Given the description of an element on the screen output the (x, y) to click on. 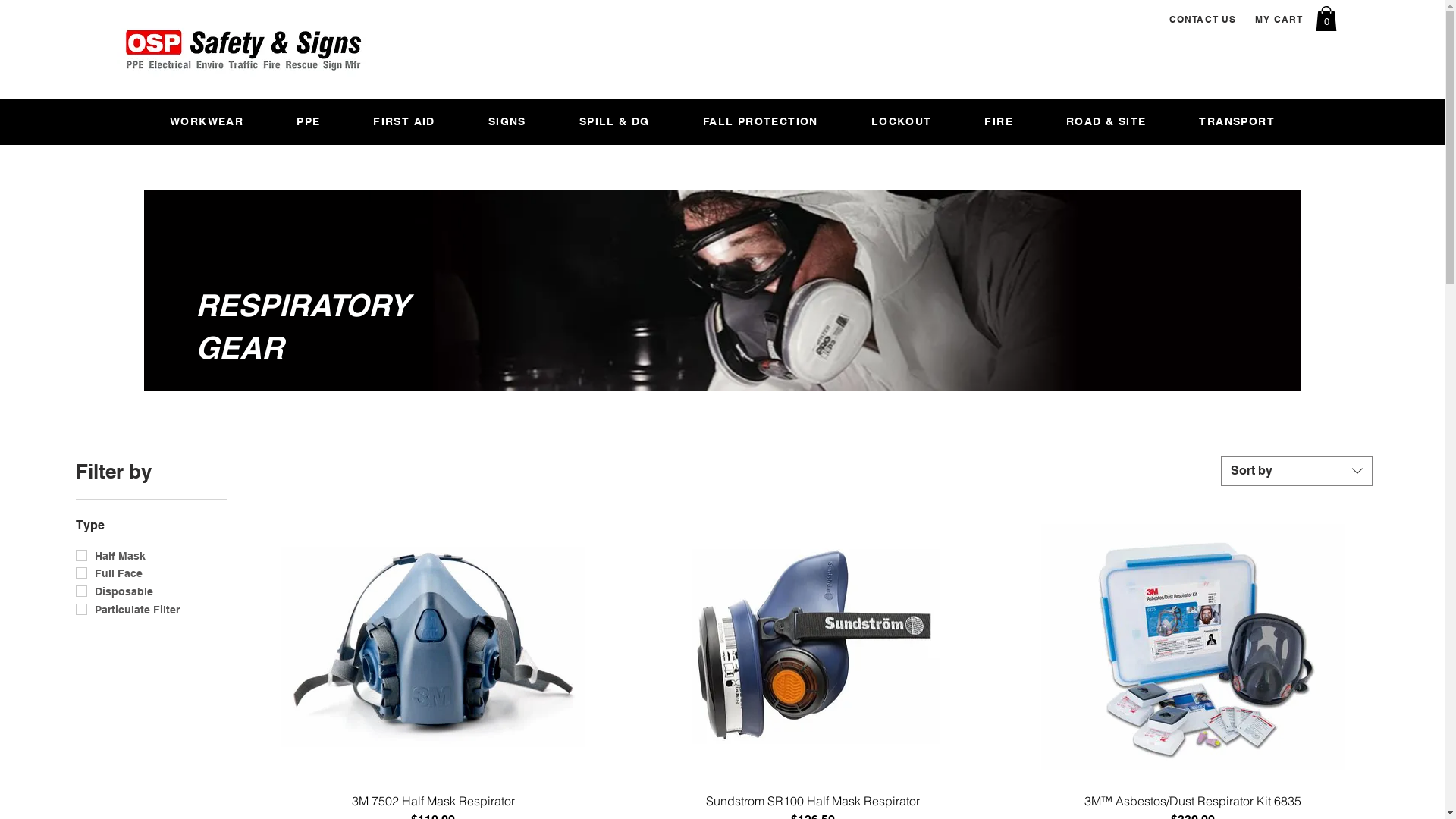
TRANSPORT Element type: text (1236, 120)
SIGNS Element type: text (507, 120)
PPE Element type: text (307, 120)
Sort by Element type: text (1296, 470)
SPILL & DG Element type: text (614, 120)
FALL PROTECTION Element type: text (760, 120)
FIRST AID Element type: text (404, 120)
LOCKOUT Element type: text (901, 120)
ROAD & SITE Element type: text (1105, 120)
Type Element type: text (151, 525)
0 Element type: text (1325, 18)
CONTACT US Element type: text (1204, 18)
WORKWEAR Element type: text (206, 120)
MY CART Element type: text (1280, 18)
FIRE Element type: text (998, 120)
Site Search Element type: hover (1182, 59)
